Given the description of an element on the screen output the (x, y) to click on. 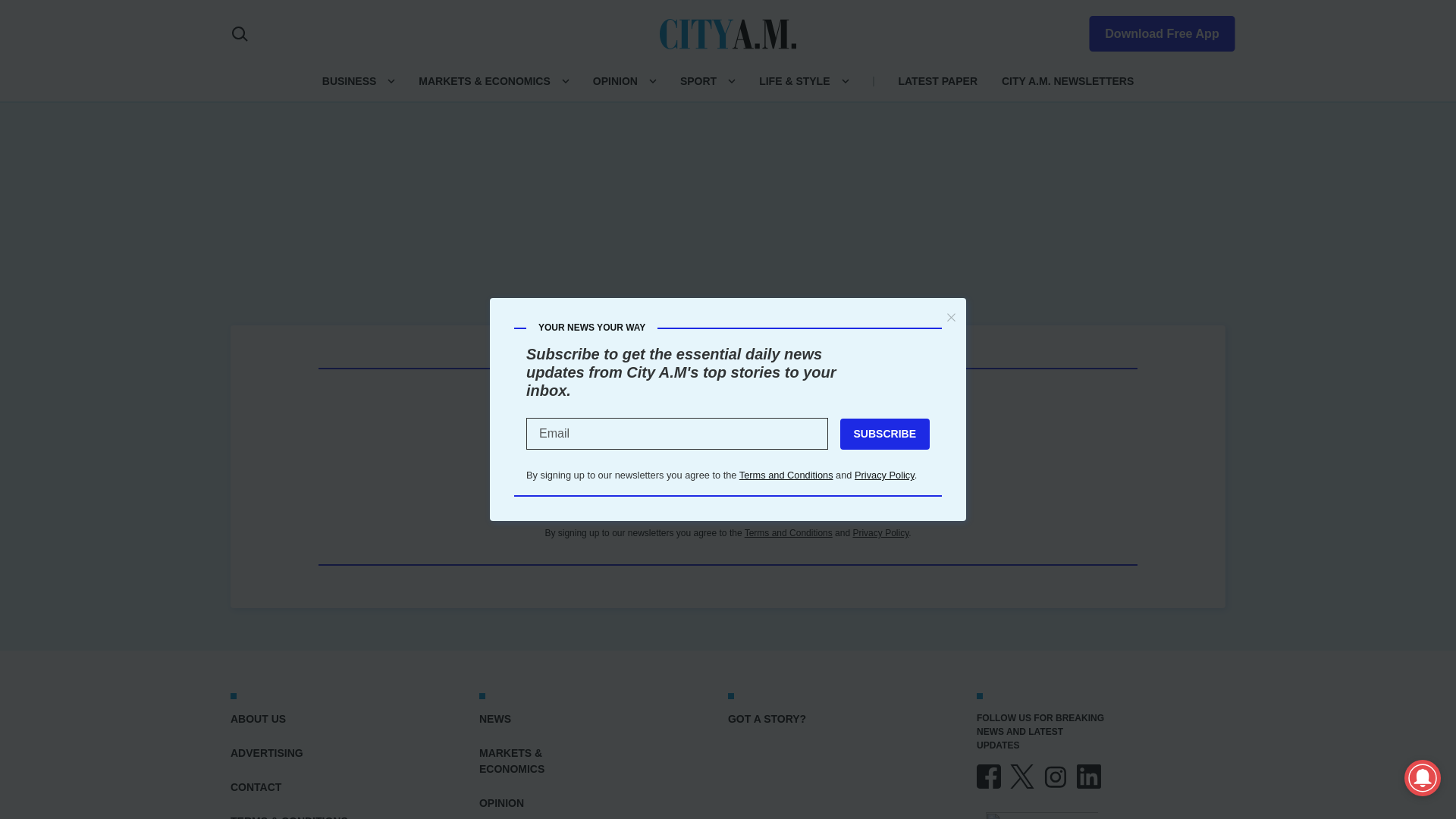
LINKEDIN (1088, 776)
INSTAGRAM (1055, 776)
FACEBOOK (988, 776)
X (1021, 776)
